Given the description of an element on the screen output the (x, y) to click on. 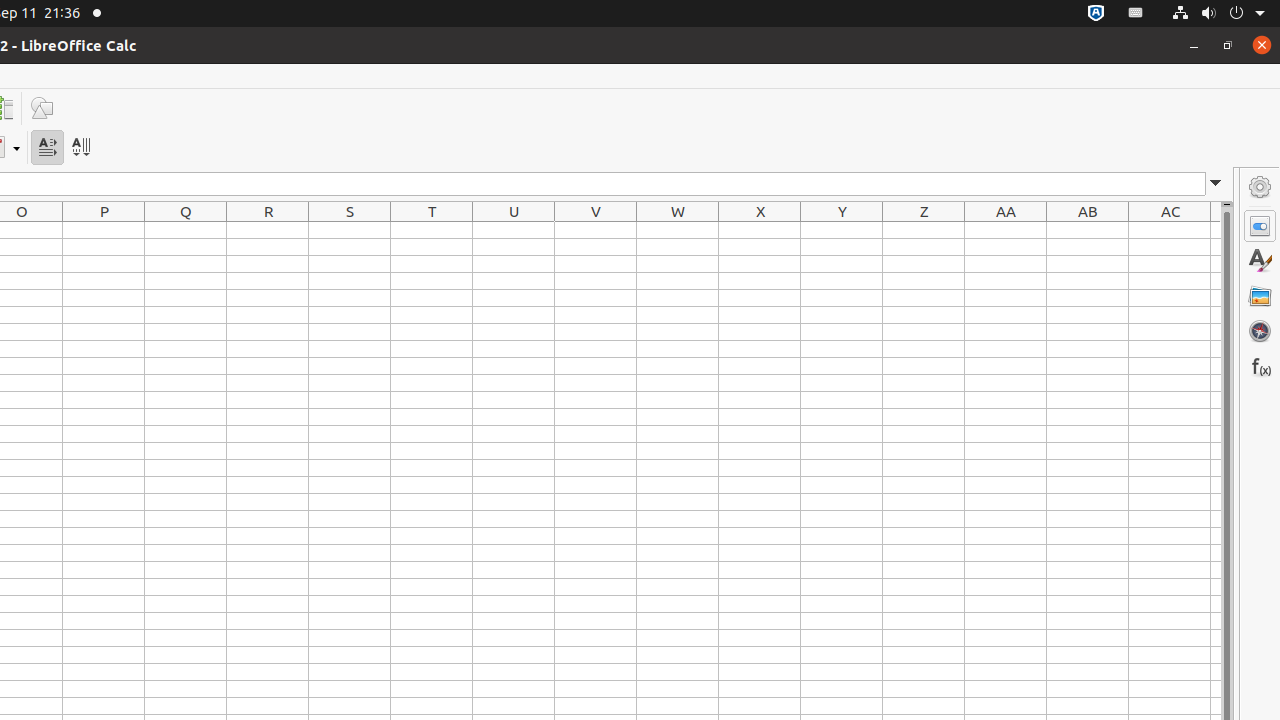
AB1 Element type: table-cell (1088, 230)
